Given the description of an element on the screen output the (x, y) to click on. 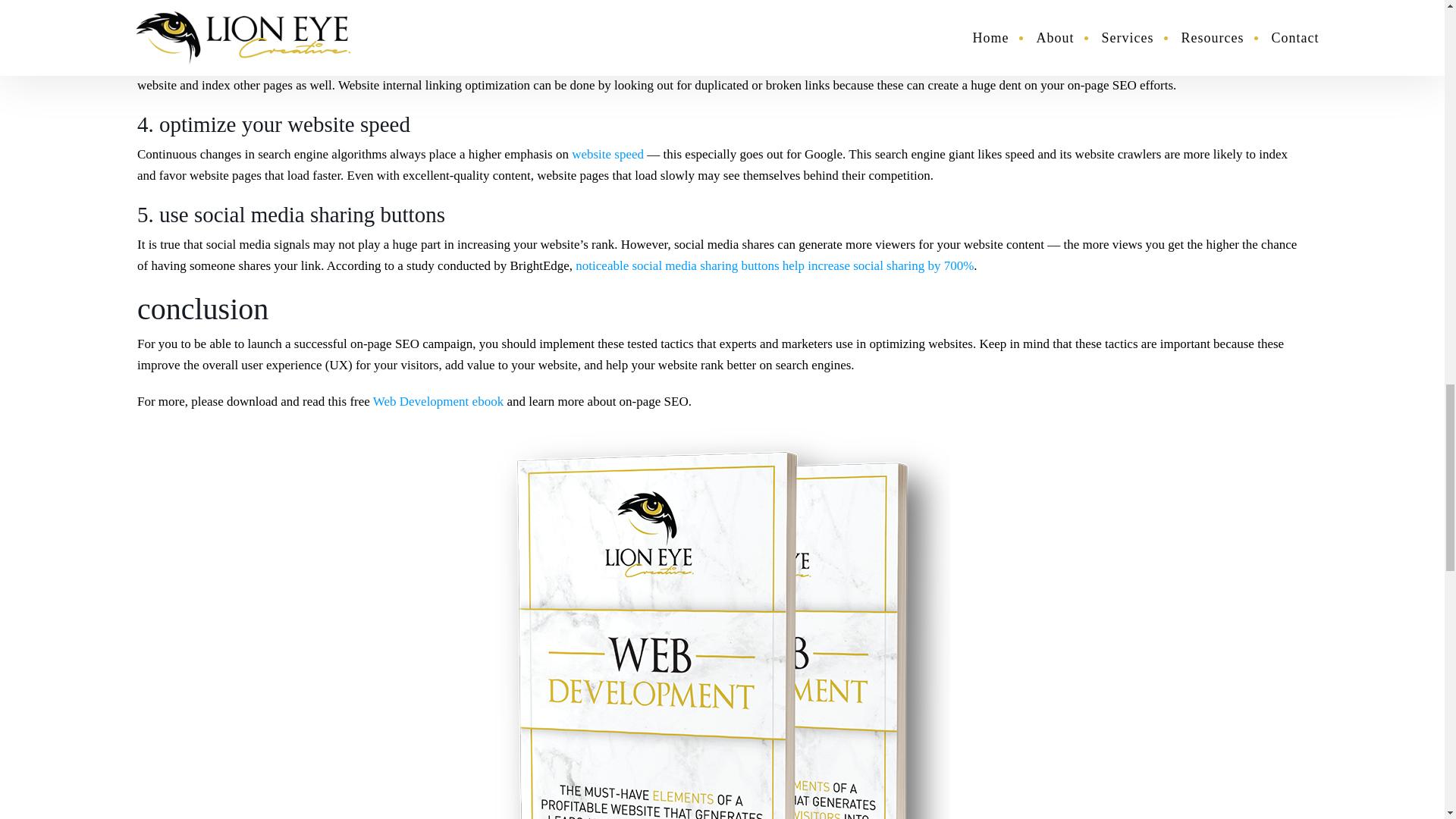
website speed (607, 154)
Web Development ebook (437, 400)
on-page SEO tactic (890, 63)
